Given the description of an element on the screen output the (x, y) to click on. 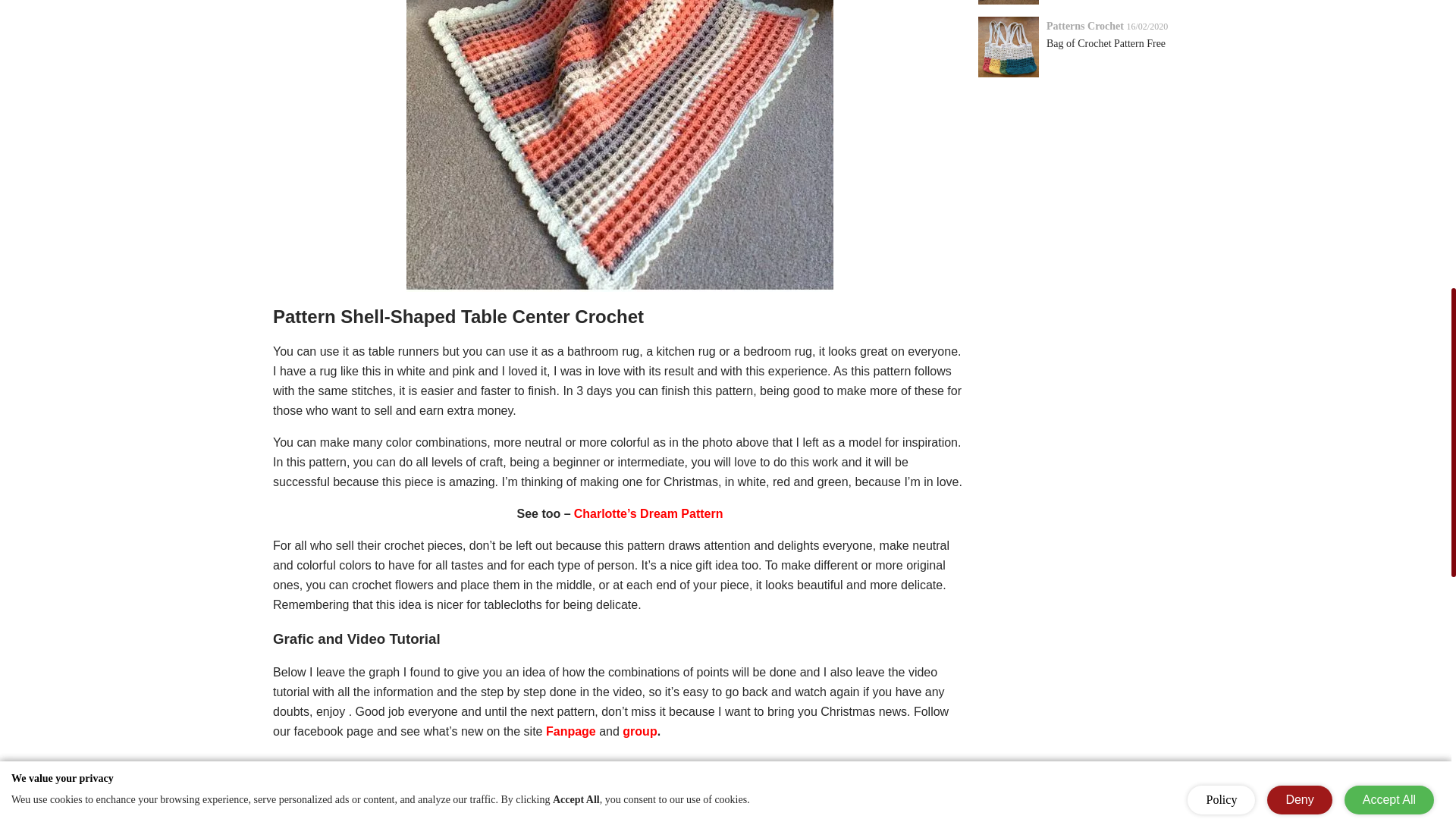
group (639, 730)
Fanpage  (572, 730)
